Given the description of an element on the screen output the (x, y) to click on. 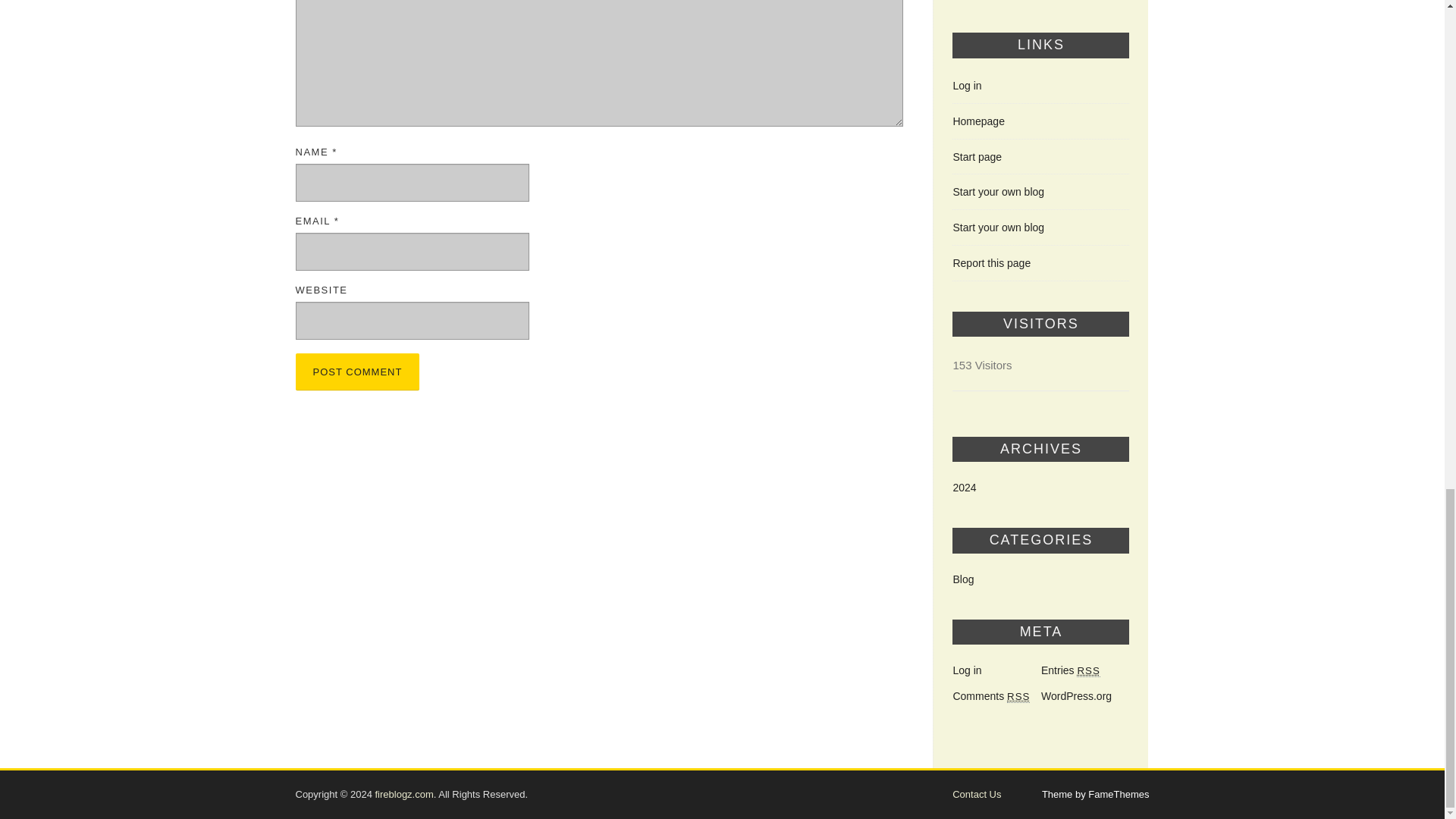
2024 (963, 487)
Log in (966, 85)
Homepage (978, 121)
Start your own blog (997, 227)
Comments RSS (990, 695)
Log in (966, 670)
Blog (963, 579)
Post Comment (357, 371)
Start page (976, 156)
